Given the description of an element on the screen output the (x, y) to click on. 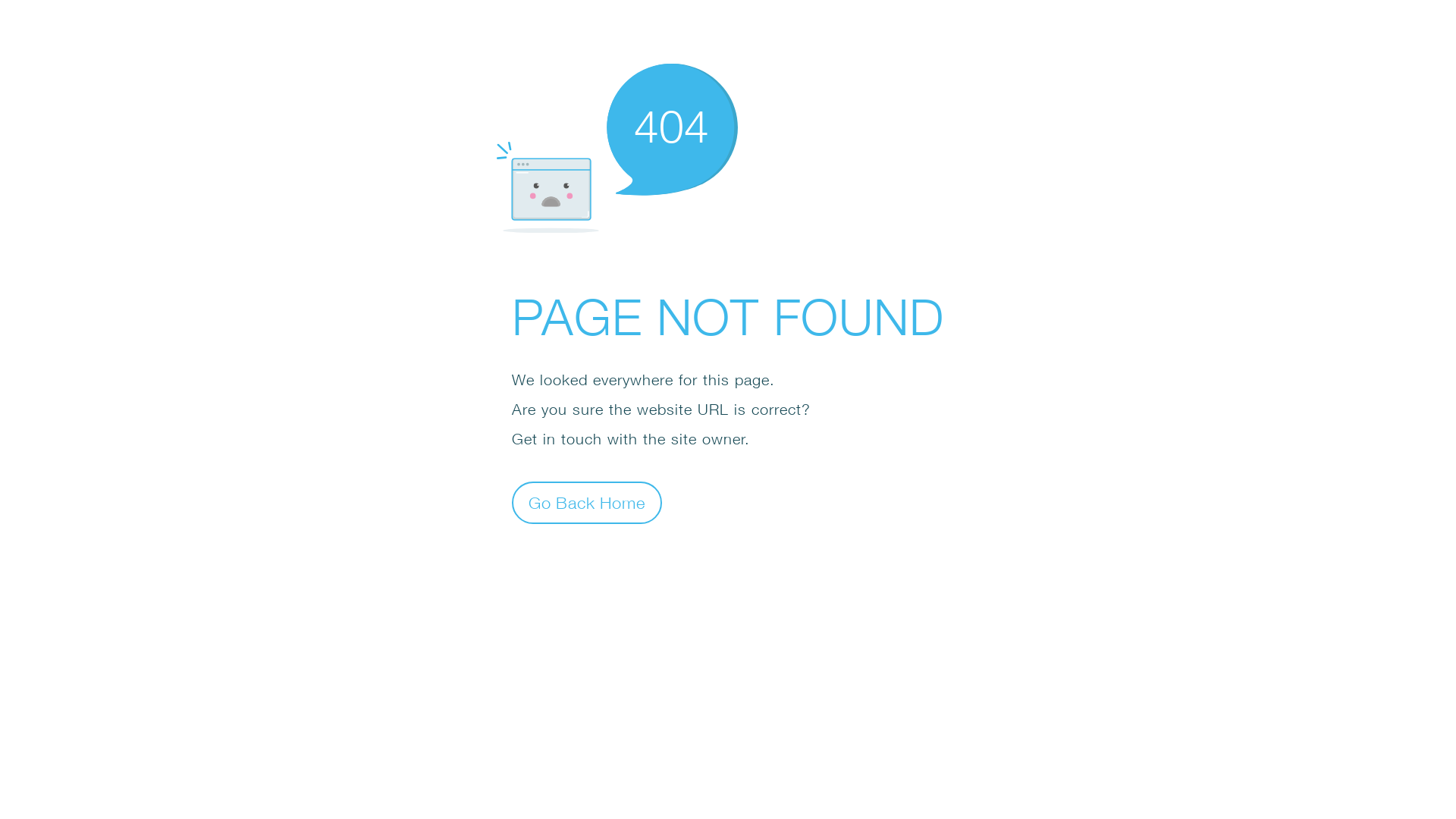
Go Back Home Element type: text (586, 502)
